Given the description of an element on the screen output the (x, y) to click on. 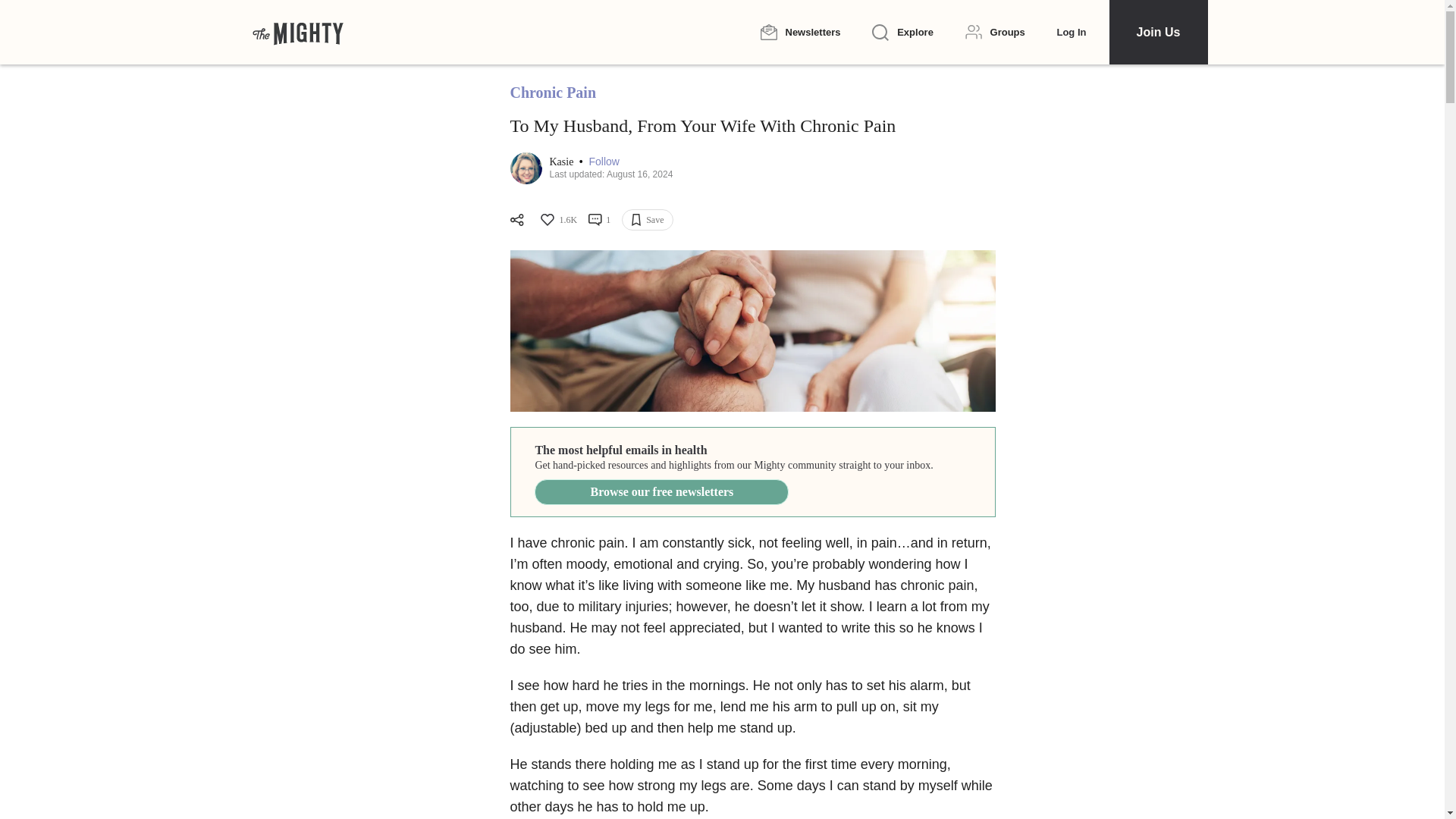
The Mighty (296, 32)
Living With a Husband or Wife Who Has Chronic Pain (751, 330)
1.6K (557, 219)
1 (599, 219)
Newsletters (800, 31)
Kasie (561, 161)
Browse our free newsletters (661, 492)
Join Us (1157, 32)
Chronic Pain (552, 92)
Follow (603, 161)
